Given the description of an element on the screen output the (x, y) to click on. 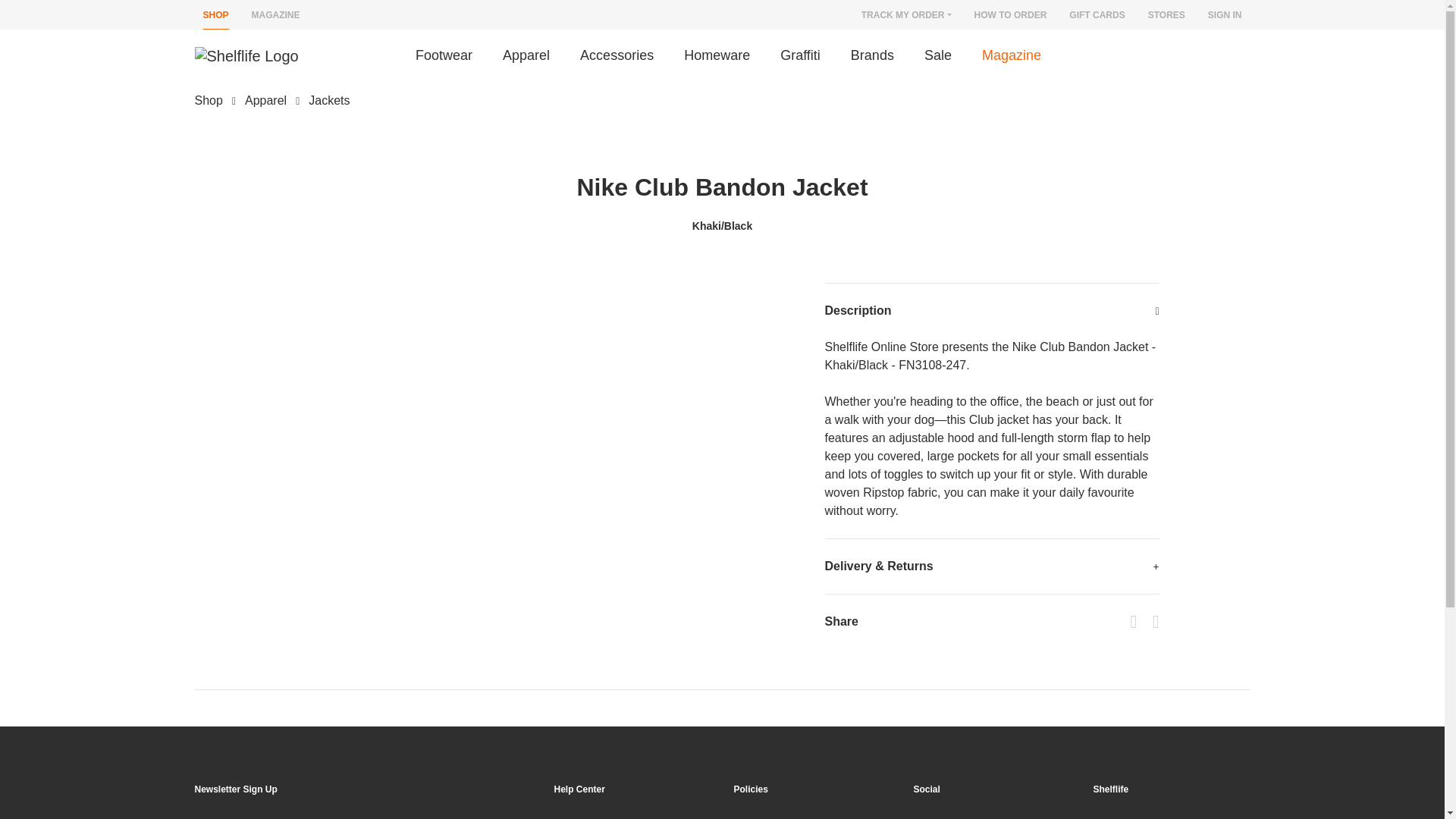
SIGN IN (1224, 16)
SHOP (215, 17)
Apparel (525, 54)
Footwear (450, 54)
HOW TO ORDER (1010, 16)
MAGAZINE (275, 16)
GIFT CARDS (1096, 16)
STORES (1166, 16)
TRACK MY ORDER (906, 16)
